Given the description of an element on the screen output the (x, y) to click on. 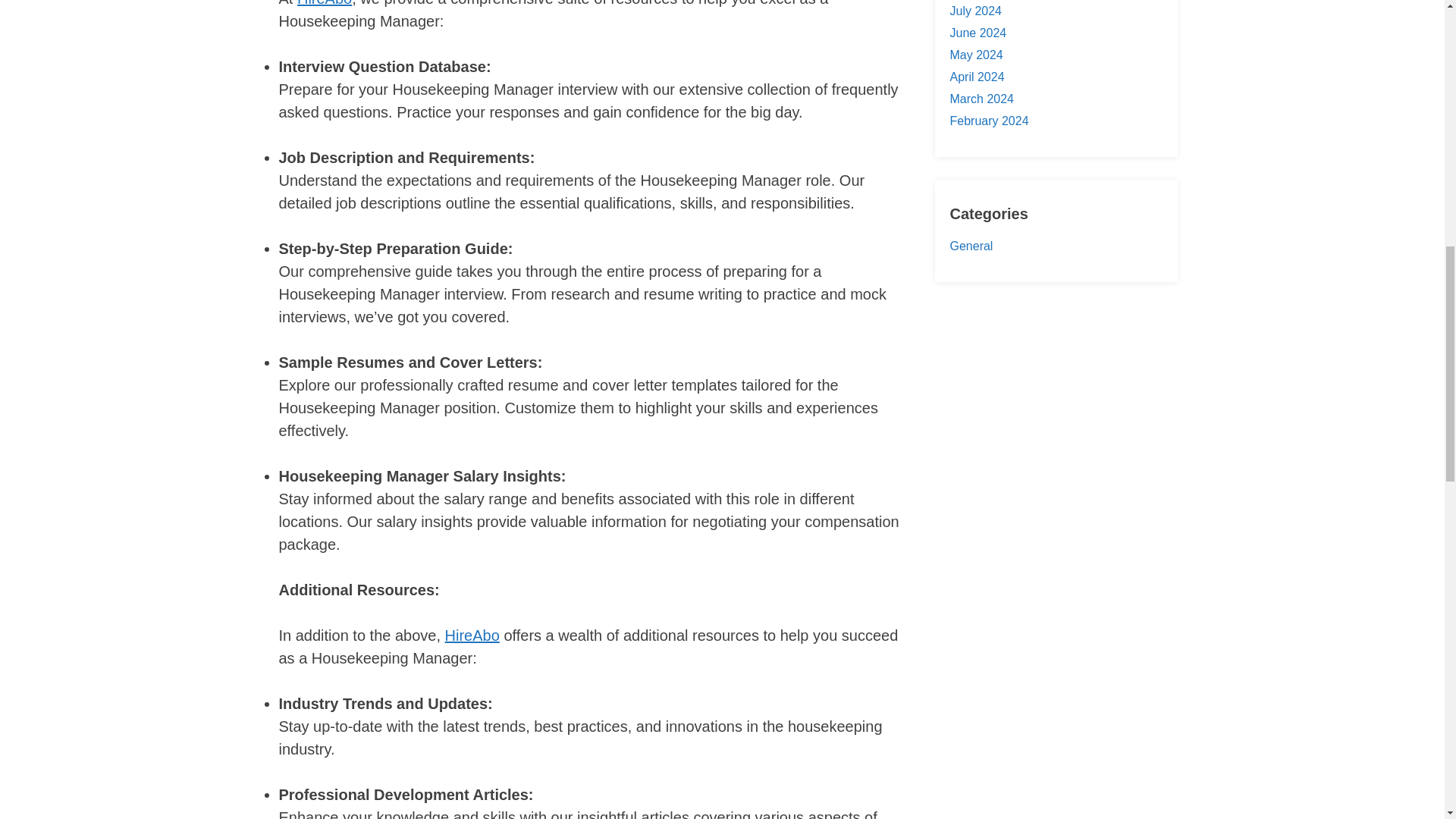
HireAbo (472, 635)
June 2024 (977, 32)
April 2024 (976, 76)
May 2024 (976, 54)
February 2024 (988, 120)
March 2024 (981, 98)
General (970, 245)
HireAbo (324, 3)
July 2024 (975, 10)
